Given the description of an element on the screen output the (x, y) to click on. 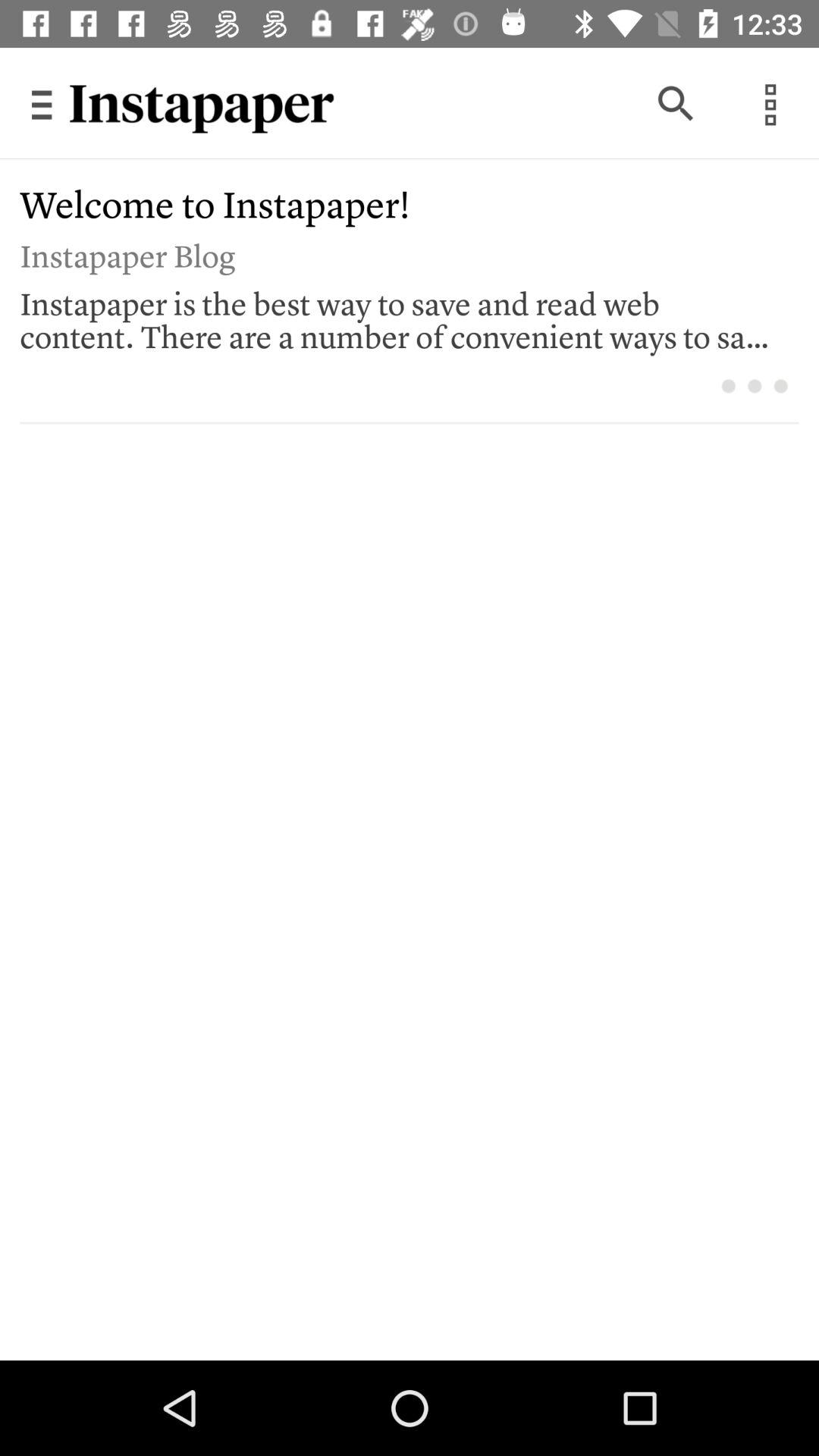
turn on the instapaper blog item (399, 253)
